Given the description of an element on the screen output the (x, y) to click on. 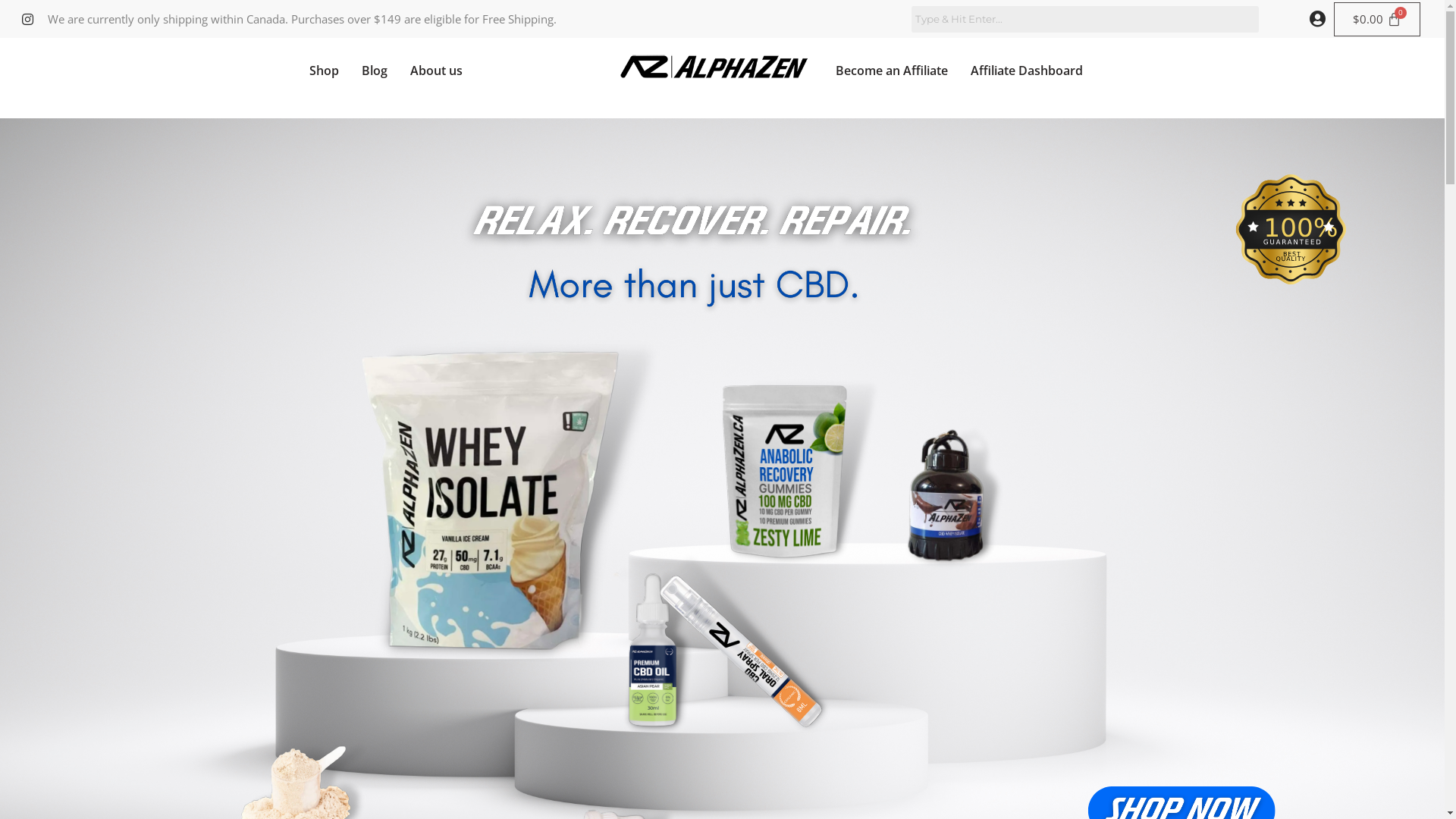
Affiliate Dashboard Element type: text (1026, 70)
About us Element type: text (435, 70)
Search Element type: hover (1084, 19)
Blog Element type: text (374, 70)
Shop Element type: text (323, 70)
Become an Affiliate Element type: text (891, 70)
$0.00 Element type: text (1376, 18)
